Given the description of an element on the screen output the (x, y) to click on. 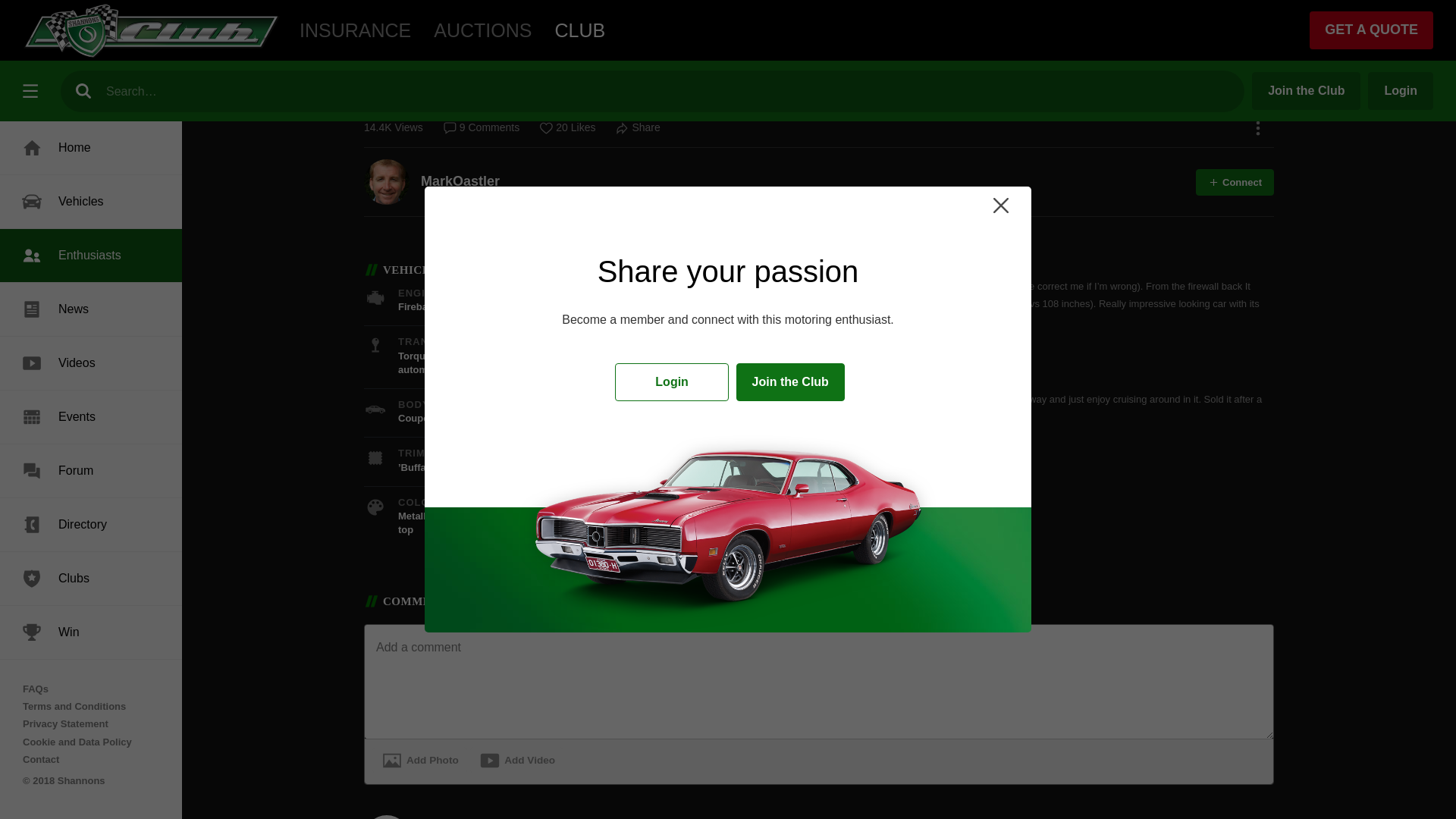
1969 Chrysler Valiant VF Regal 770 Hardtop (819, 13)
